Given the description of an element on the screen output the (x, y) to click on. 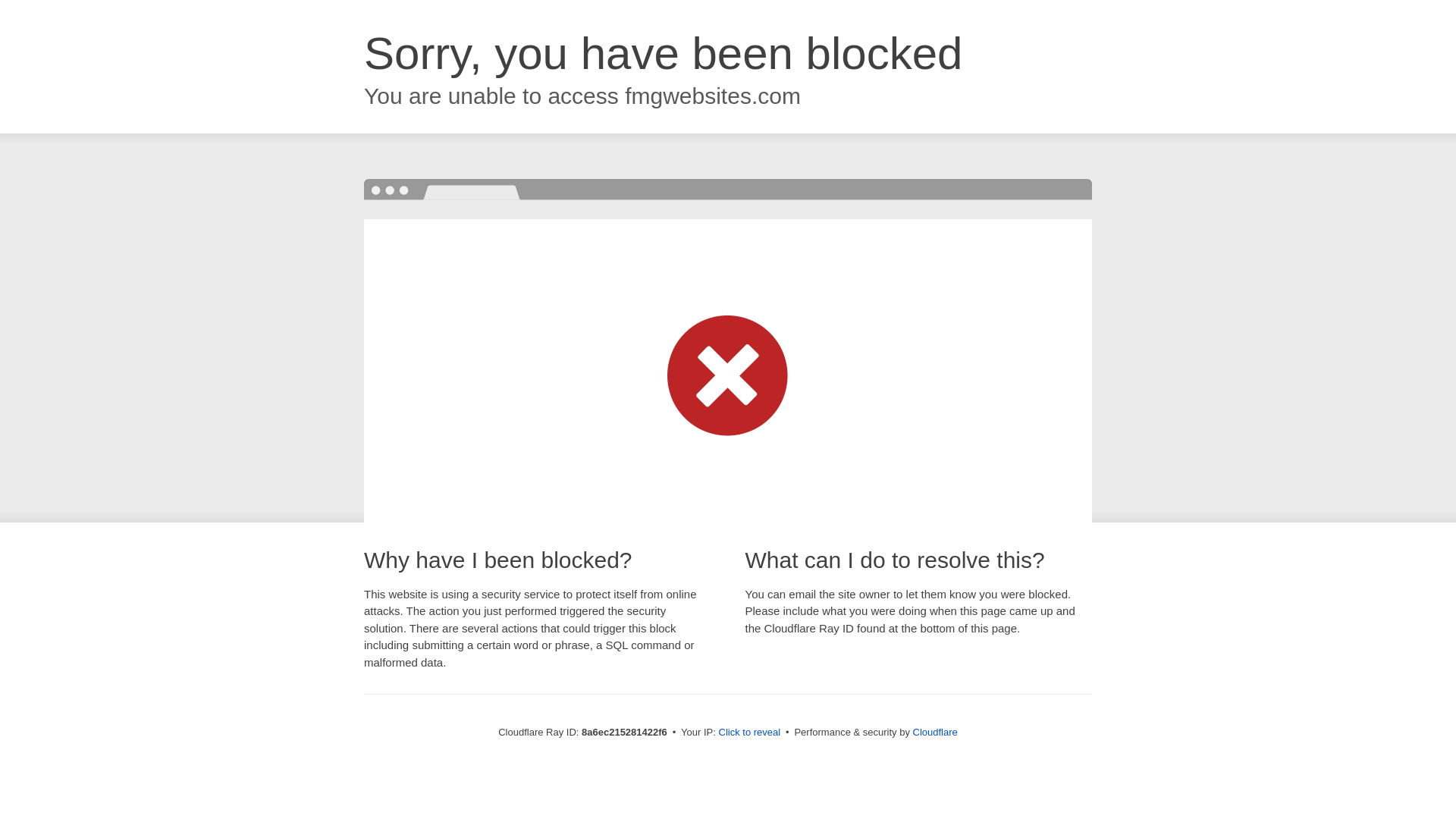
Cloudflare (935, 731)
Click to reveal (749, 732)
